Given the description of an element on the screen output the (x, y) to click on. 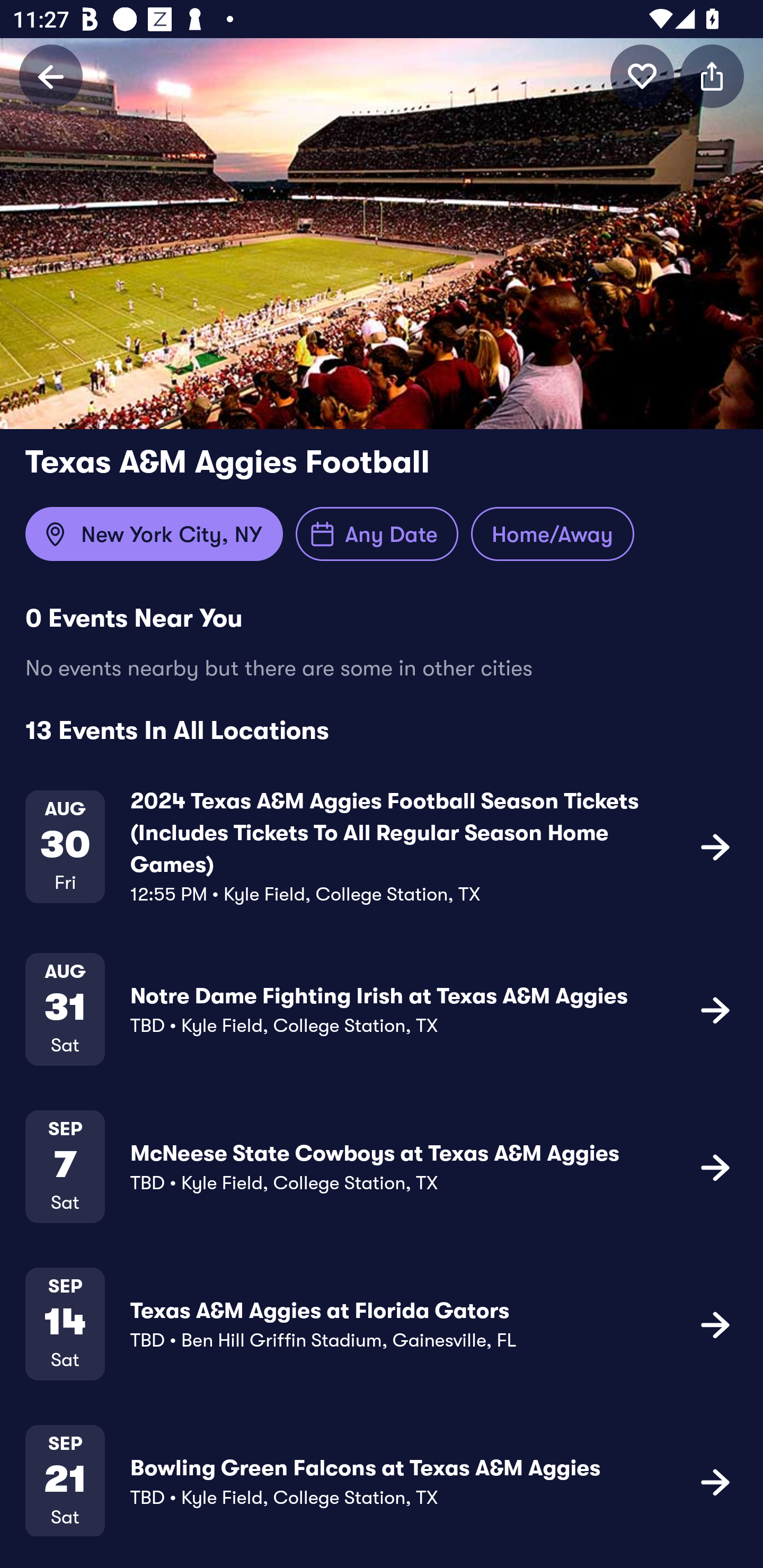
Back (50, 75)
icon button (641, 75)
icon button (711, 75)
New York City, NY (153, 533)
Any Date (377, 533)
Home/Away (552, 533)
icon button (714, 846)
icon button (714, 1009)
icon button (714, 1166)
icon button (714, 1323)
icon button (714, 1481)
